Given the description of an element on the screen output the (x, y) to click on. 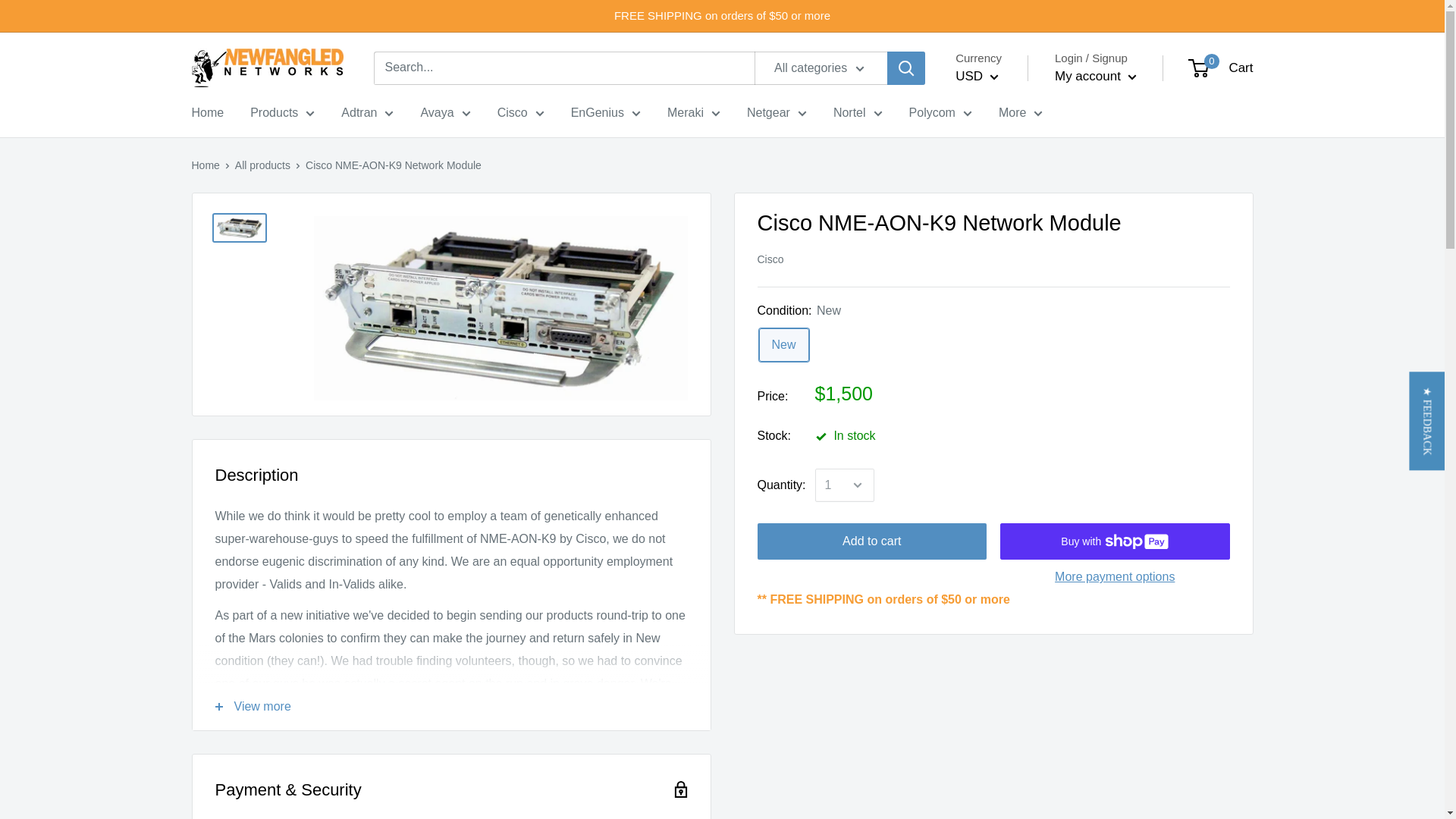
New (783, 344)
